Given the description of an element on the screen output the (x, y) to click on. 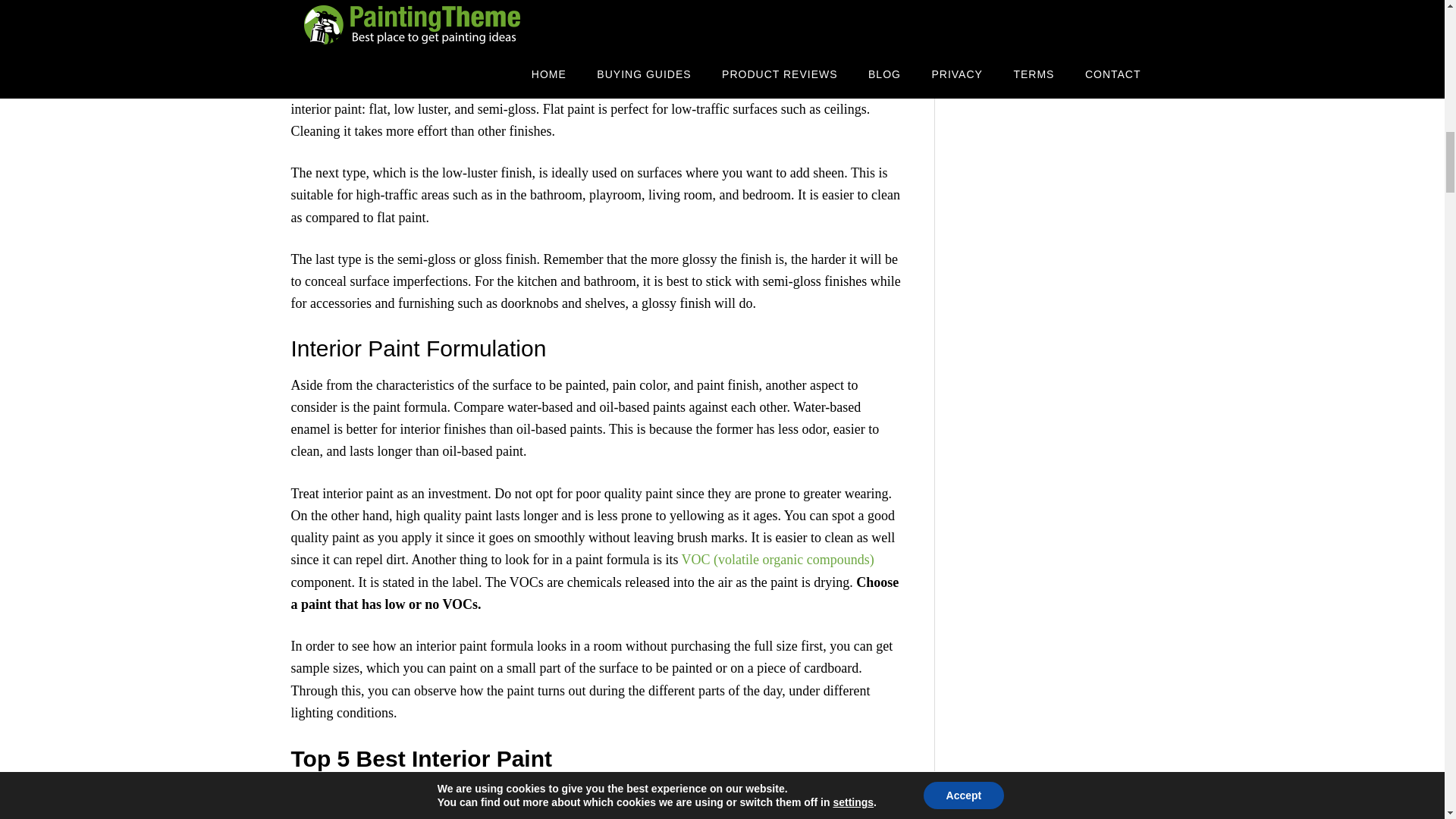
Choosing the right paint finish (374, 64)
